Given the description of an element on the screen output the (x, y) to click on. 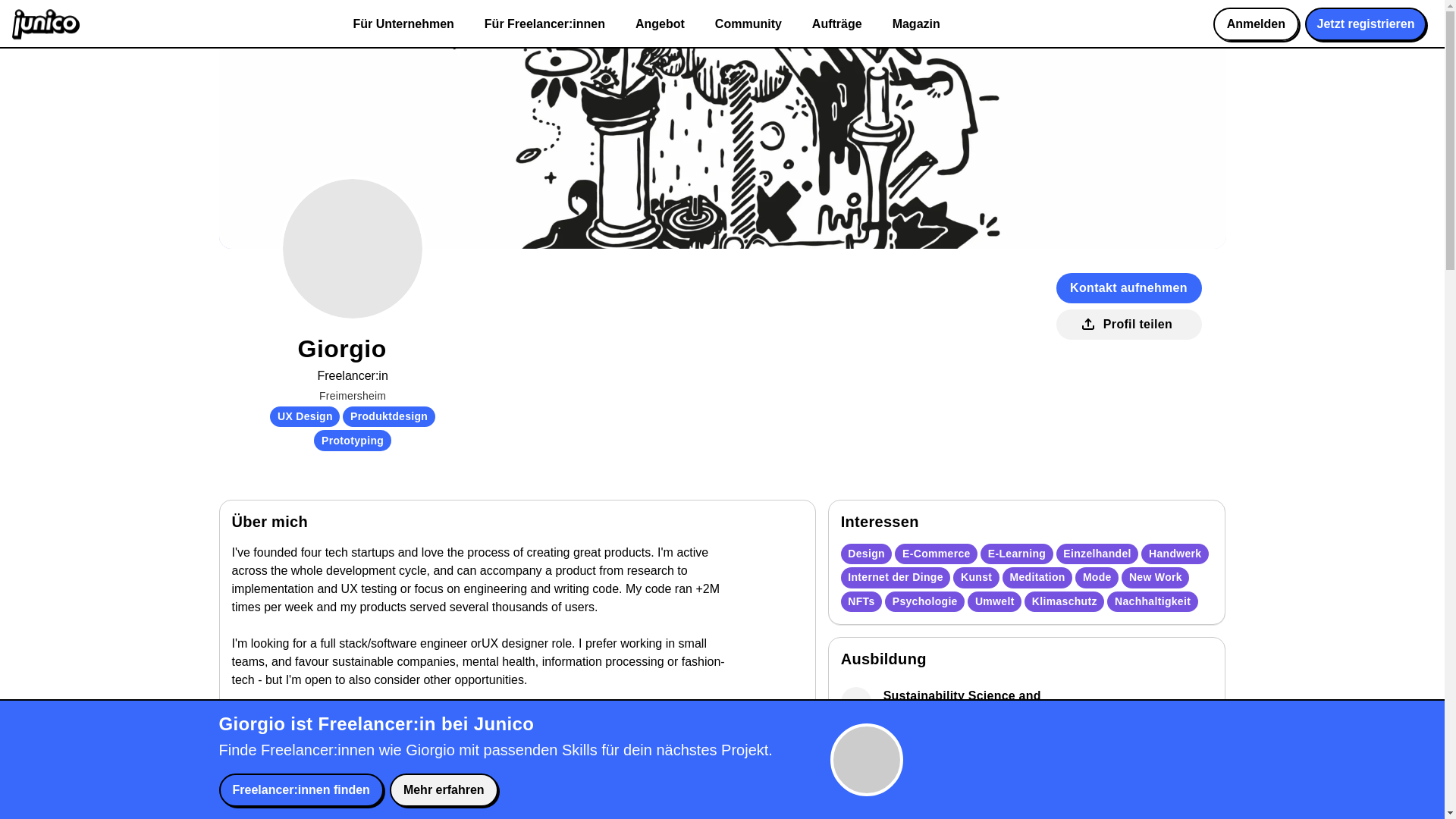
Jetzt registrieren (1365, 23)
Kontakt aufnehmen (1128, 287)
Mehr erfahren (443, 789)
Angebot (660, 24)
Community (748, 24)
Freelancer:innen finden (300, 789)
Magazin (916, 24)
Profil teilen (1128, 324)
Anmelden (1255, 23)
